Given the description of an element on the screen output the (x, y) to click on. 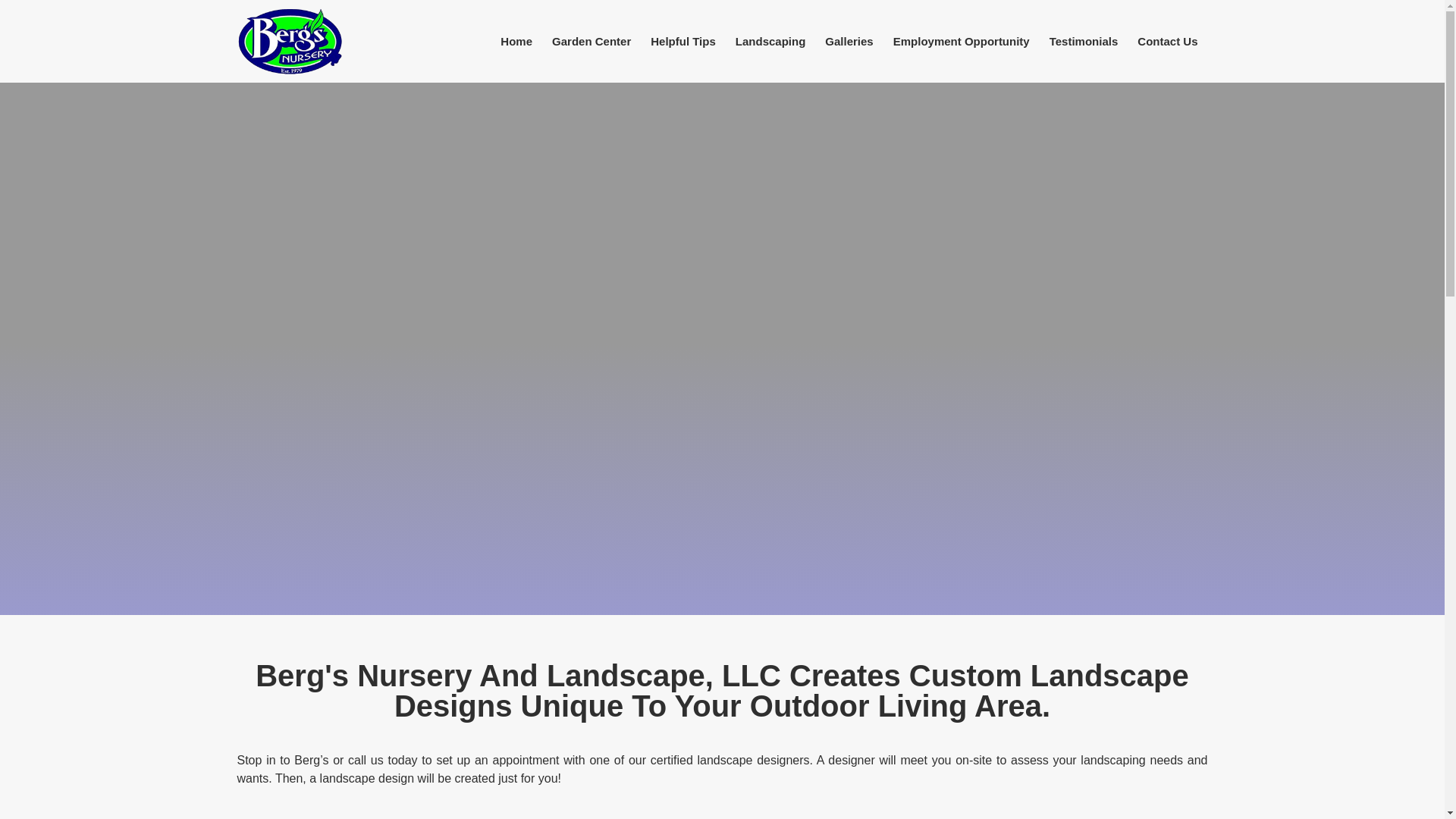
Contact Us (1166, 41)
Employment Opportunity (961, 41)
Home (515, 41)
Galleries (848, 41)
Testimonials (1083, 41)
Helpful Tips (682, 41)
Landscaping (770, 41)
Garden Center (590, 41)
